Given the description of an element on the screen output the (x, y) to click on. 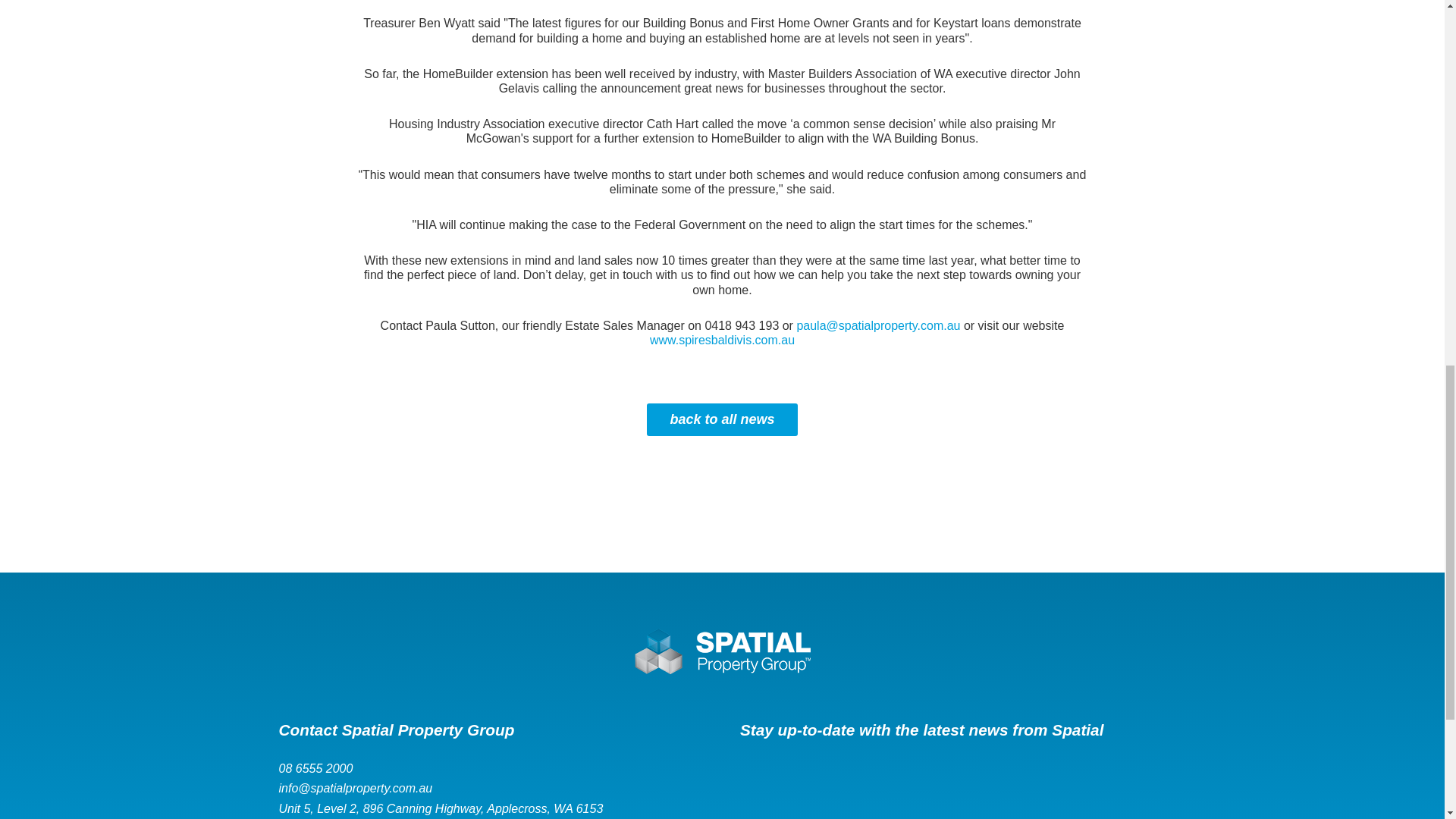
Unit 5, Level 2, 896 Canning Highway, Applecross, WA 6153 (491, 808)
08 6555 2000 (491, 768)
www.spiresbaldivis.com.au (721, 339)
back to all news (721, 419)
